Given the description of an element on the screen output the (x, y) to click on. 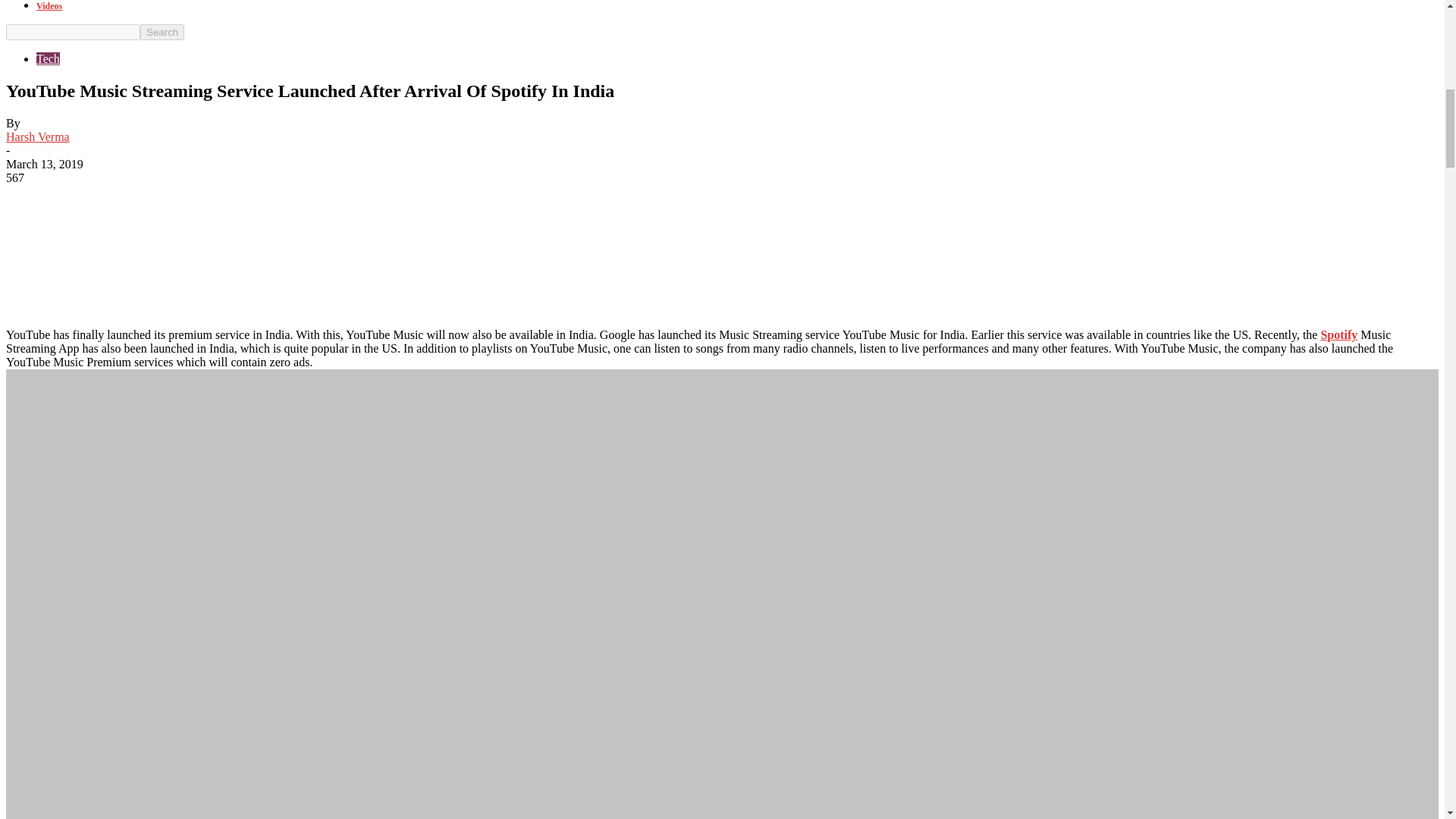
Search (161, 32)
